Given the description of an element on the screen output the (x, y) to click on. 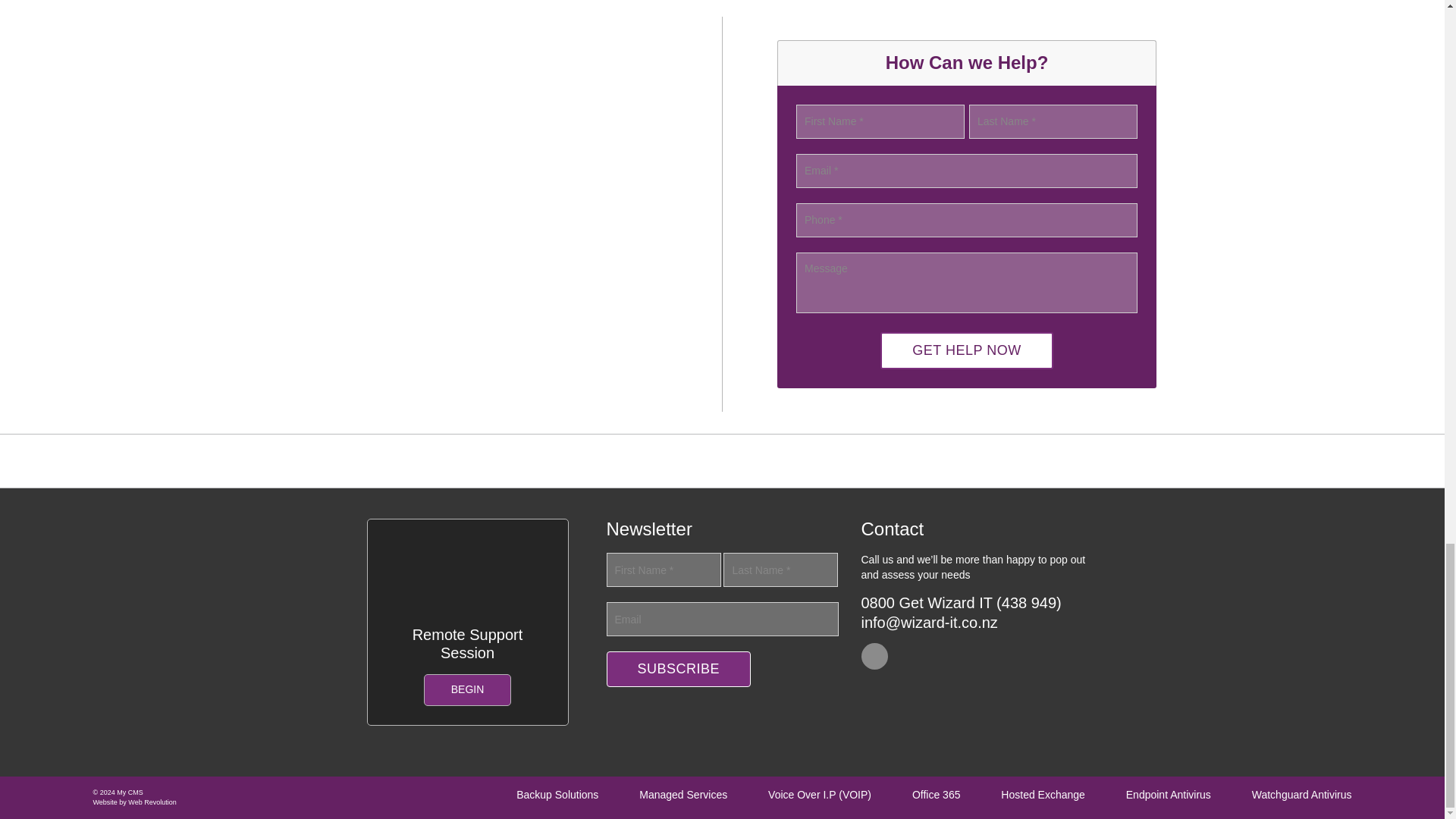
SUBSCRIBE (679, 669)
GET HELP NOW (966, 350)
